Given the description of an element on the screen output the (x, y) to click on. 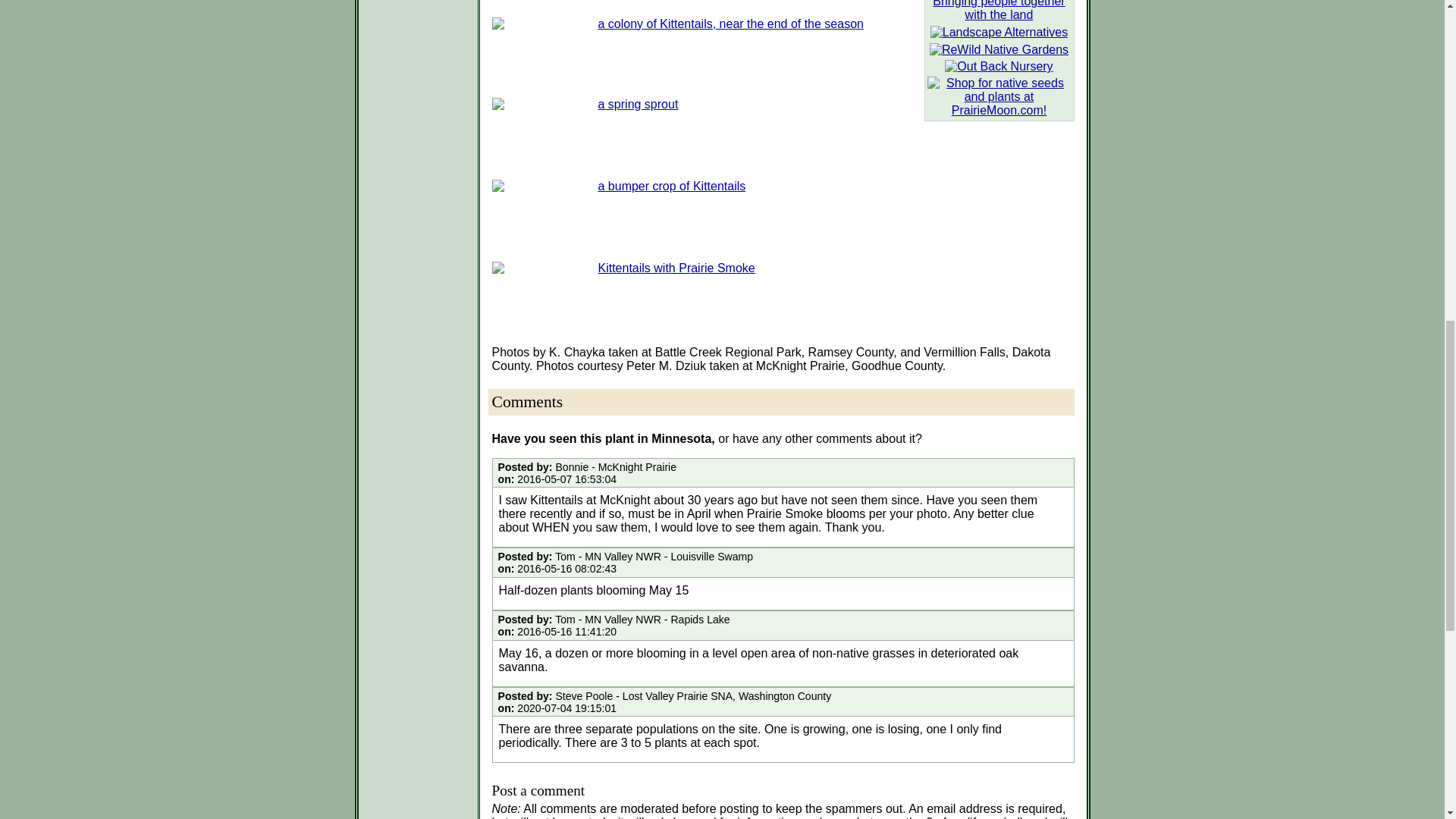
a bumper crop of Kittentails (670, 185)
 a bumper crop of Kittentails (670, 185)
a colony of Kittentails, near the end of the season (729, 23)
Kittentails with Prairie Smoke (675, 267)
a spring sprout (637, 103)
 Kittentails with Prairie Smoke (675, 267)
 a spring sprout (637, 103)
 a colony of Kittentails, near the end of the season (729, 23)
